Given the description of an element on the screen output the (x, y) to click on. 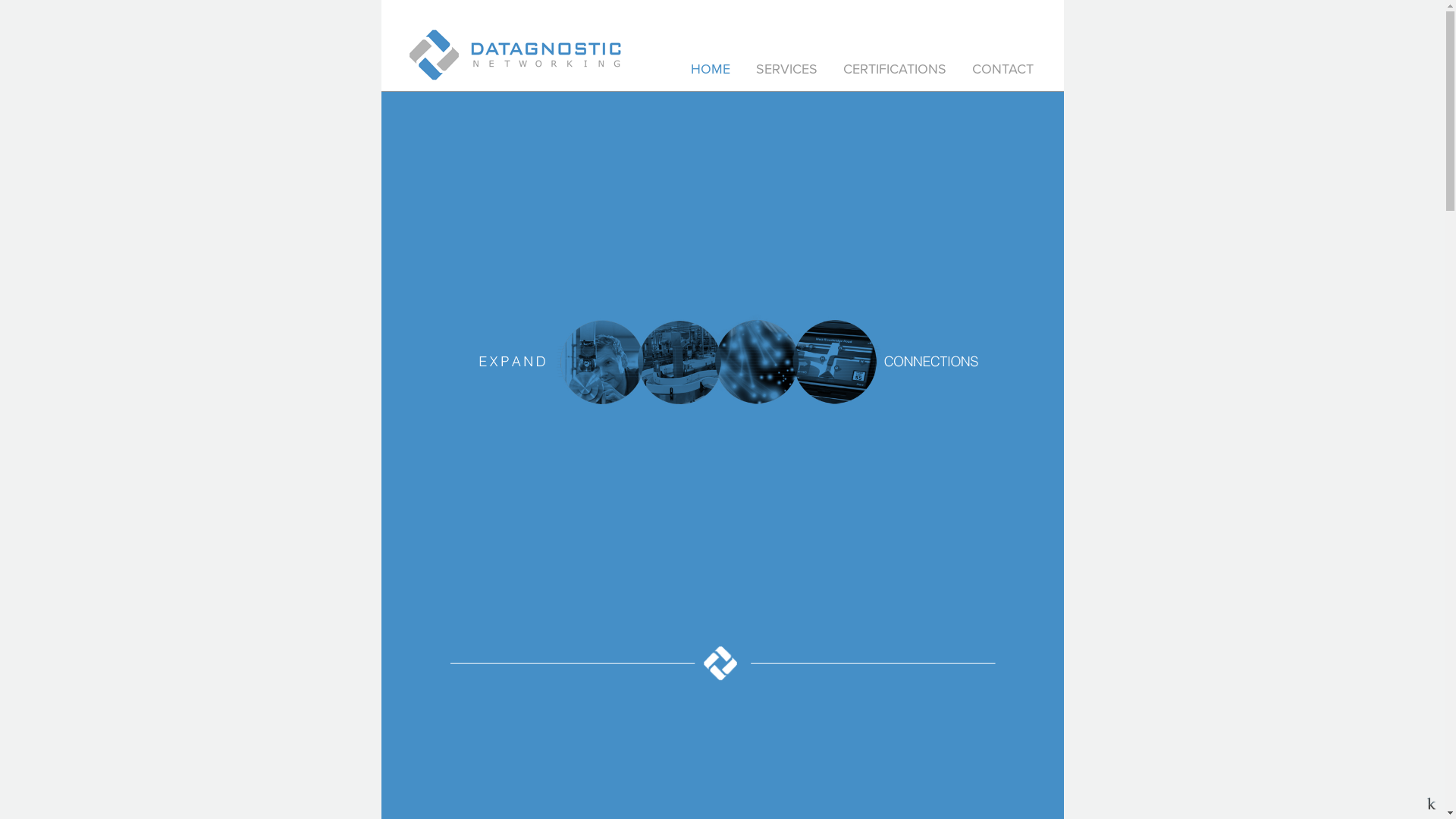
Datagnostic Services  Meulebeke Element type: hover (722, 363)
HOME Element type: text (709, 68)
CERTIFICATIONS Element type: text (894, 68)
CONTACT Element type: text (1002, 68)
SERVICES Element type: text (785, 68)
